Given the description of an element on the screen output the (x, y) to click on. 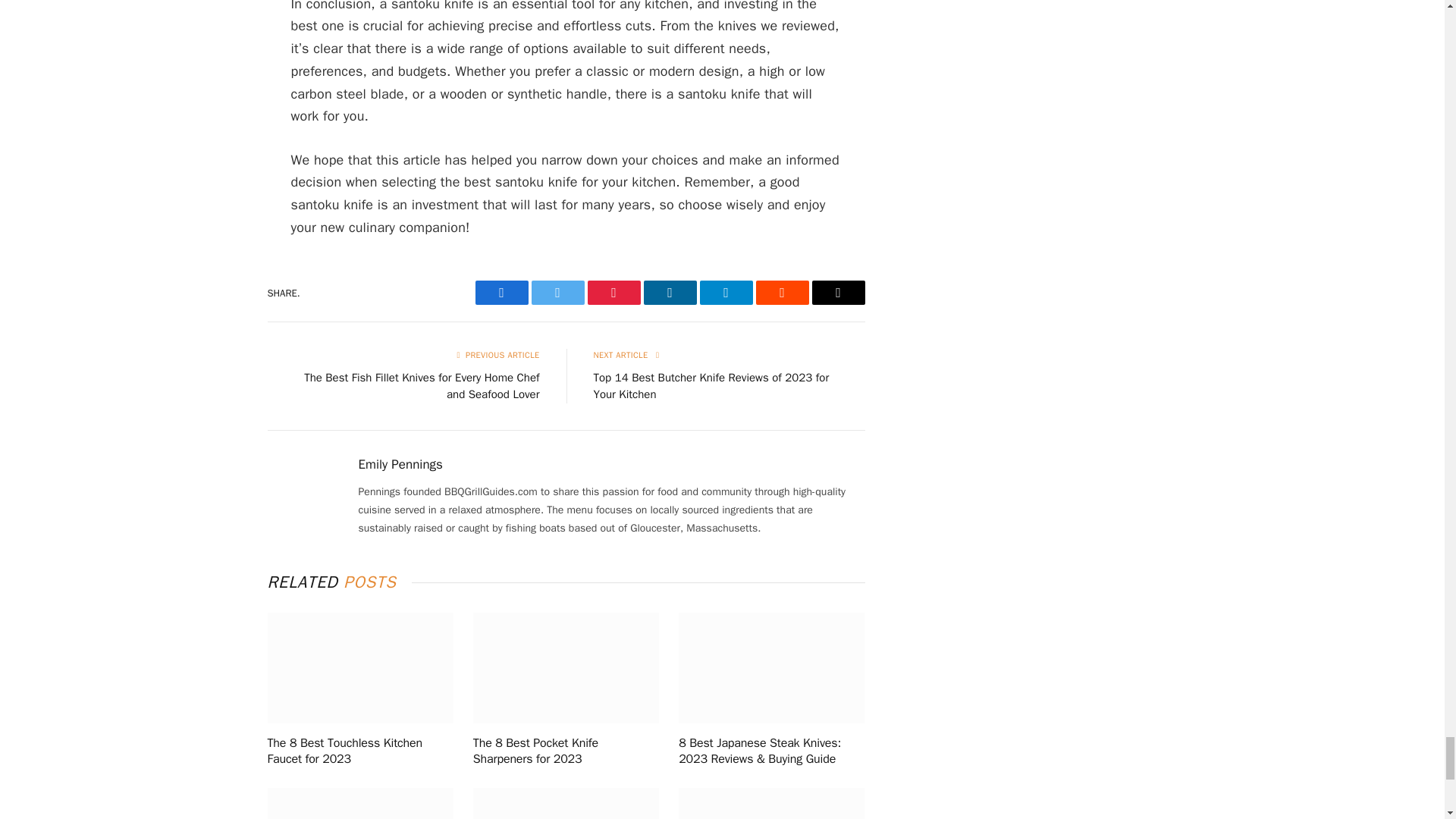
Share on Pinterest (613, 292)
Share on LinkedIn (669, 292)
Share on Facebook (500, 292)
Posts by Emily Pennings (400, 464)
Share on Reddit (781, 292)
Share on Telegram (725, 292)
Share on Twitter (557, 292)
Share via Email (837, 292)
